Given the description of an element on the screen output the (x, y) to click on. 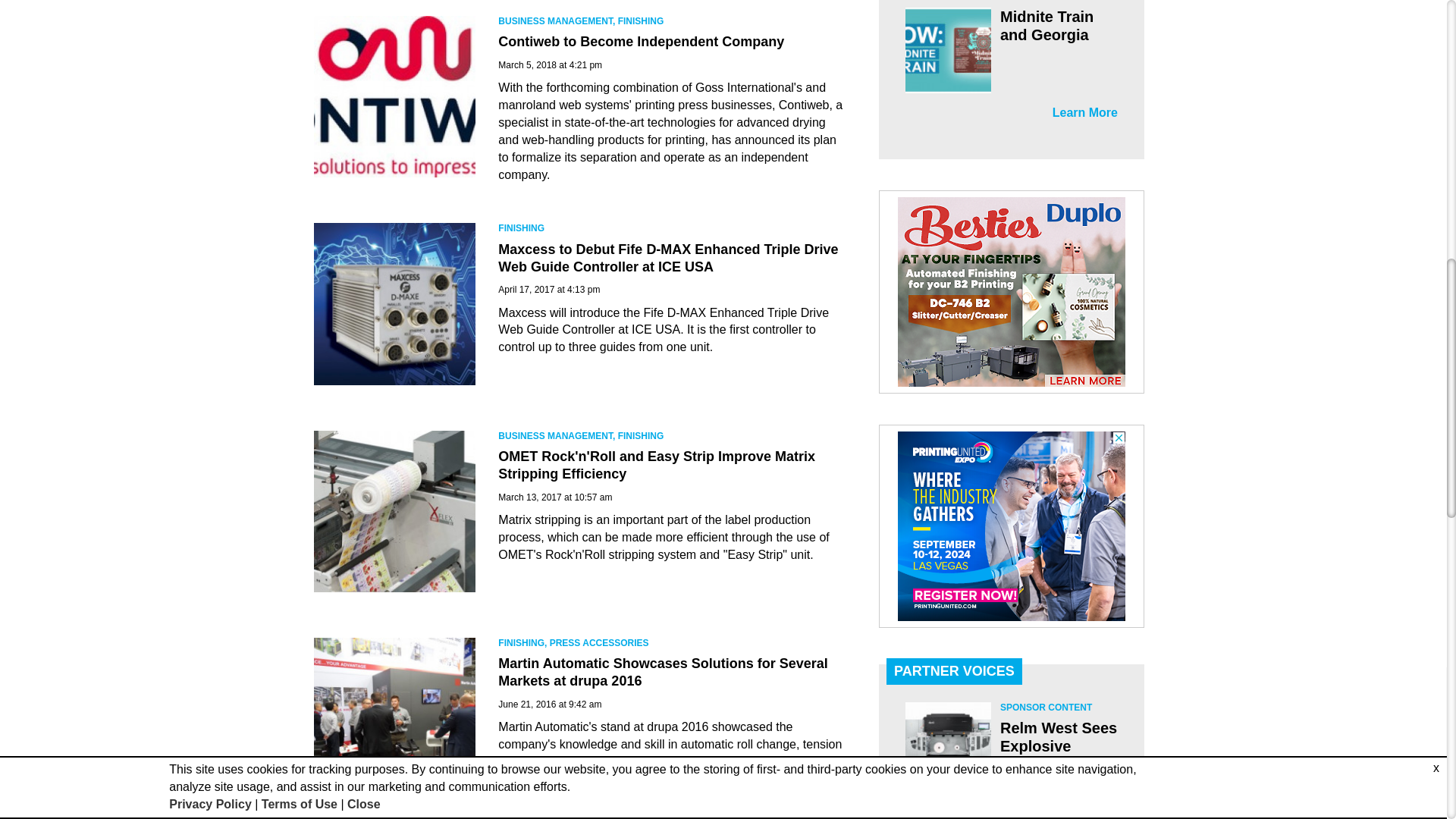
3rd party ad content (1011, 525)
3rd party ad content (1011, 291)
